Given the description of an element on the screen output the (x, y) to click on. 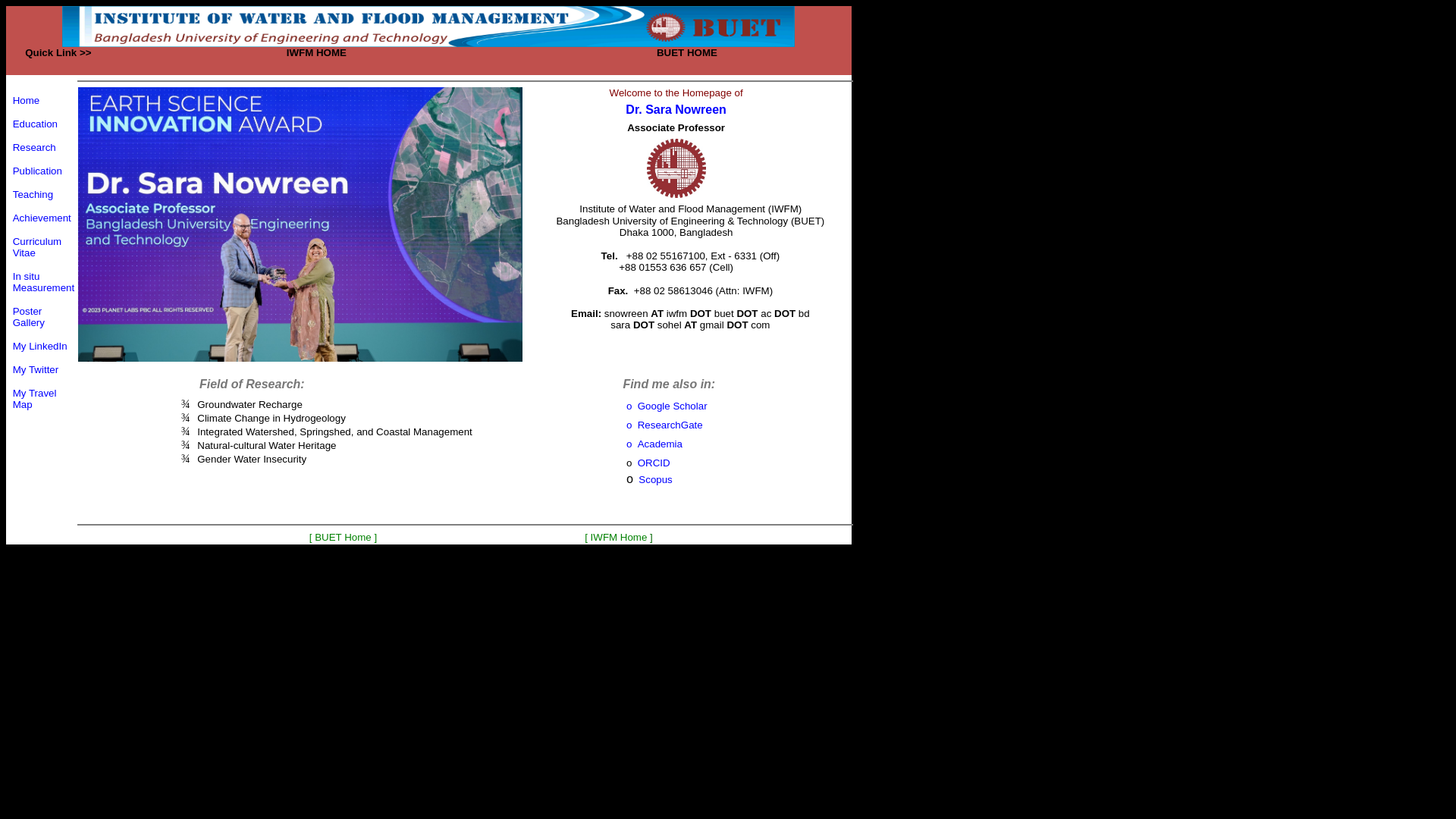
BUET Home Element type: text (342, 536)
My LinkedIn Element type: text (39, 345)
Achievement Element type: text (41, 217)
Poster Gallery Element type: text (28, 316)
Dr. Sara Nowreen Element type: text (675, 109)
My Twitter Element type: text (35, 368)
Google Scholar Element type: text (672, 405)
Home Element type: text (26, 99)
ORCID Element type: text (653, 462)
Publication Element type: text (37, 169)
Scopus Element type: text (654, 479)
Curriculum Vitae Element type: text (36, 246)
Academia Element type: text (659, 443)
BUET HOME Element type: text (686, 52)
IWFM HOME Element type: text (316, 52)
IWFM Home Element type: text (618, 536)
In situ Measurement Element type: text (43, 281)
My Travel Map Element type: text (34, 397)
Research Element type: text (34, 147)
ResearchGate Element type: text (669, 424)
Education Element type: text (34, 122)
Teaching Element type: text (32, 193)
